Given the description of an element on the screen output the (x, y) to click on. 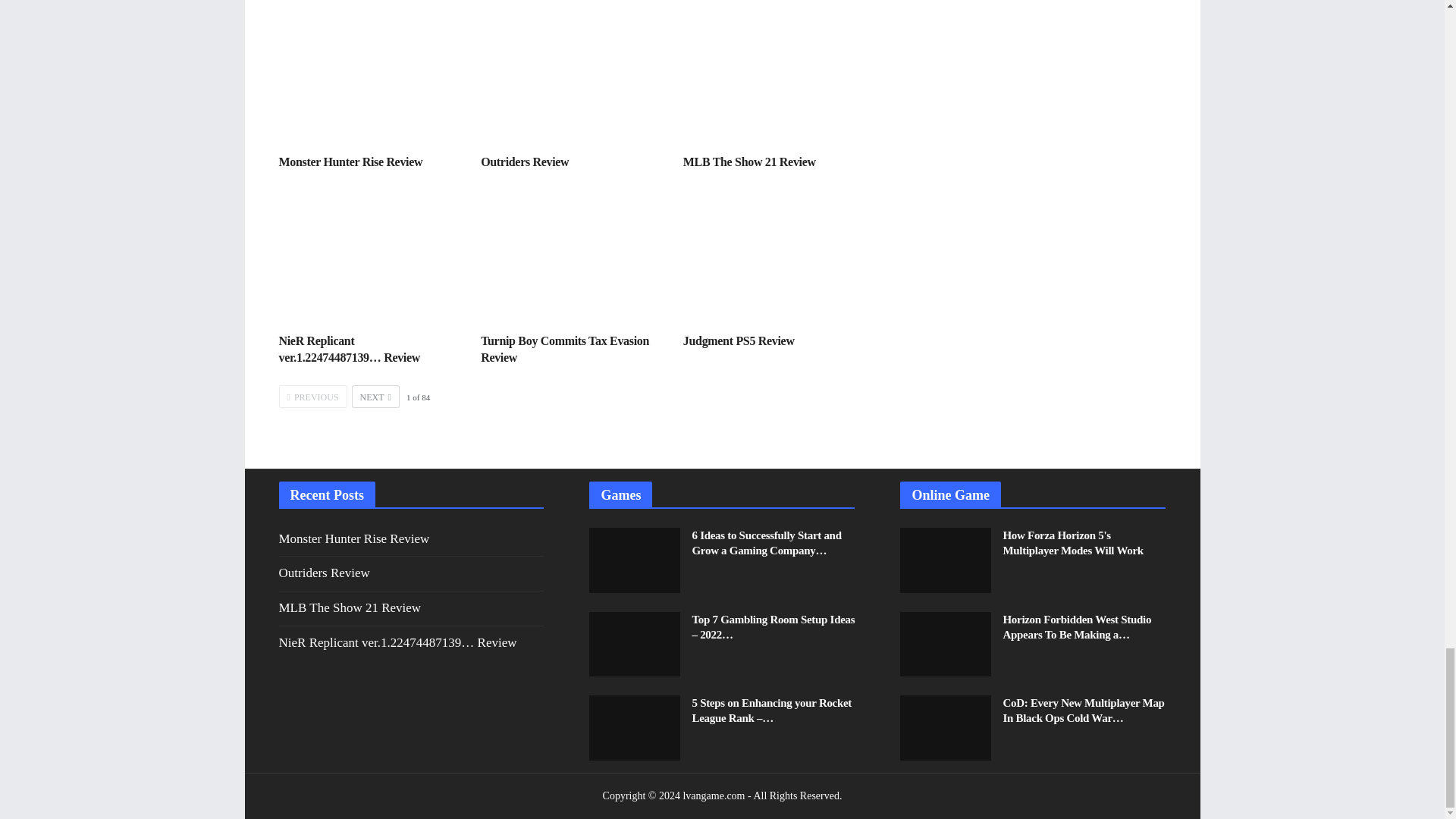
Monster Hunter Rise Review (368, 77)
MLB The Show 21 Review (748, 161)
Judgment PS5 Review (738, 340)
PREVIOUS (313, 395)
Turnip Boy Commits Tax Evasion Review (564, 348)
Monster Hunter Rise Review (351, 161)
Next (375, 395)
Outriders Review (524, 161)
MLB The Show 21 Review (748, 161)
Turnip Boy Commits Tax Evasion Review (564, 348)
Turnip Boy Commits Tax Evasion Review (570, 257)
Judgment PS5 Review (772, 257)
Judgment PS5 Review (738, 340)
Outriders Review (570, 77)
NEXT (375, 395)
